Given the description of an element on the screen output the (x, y) to click on. 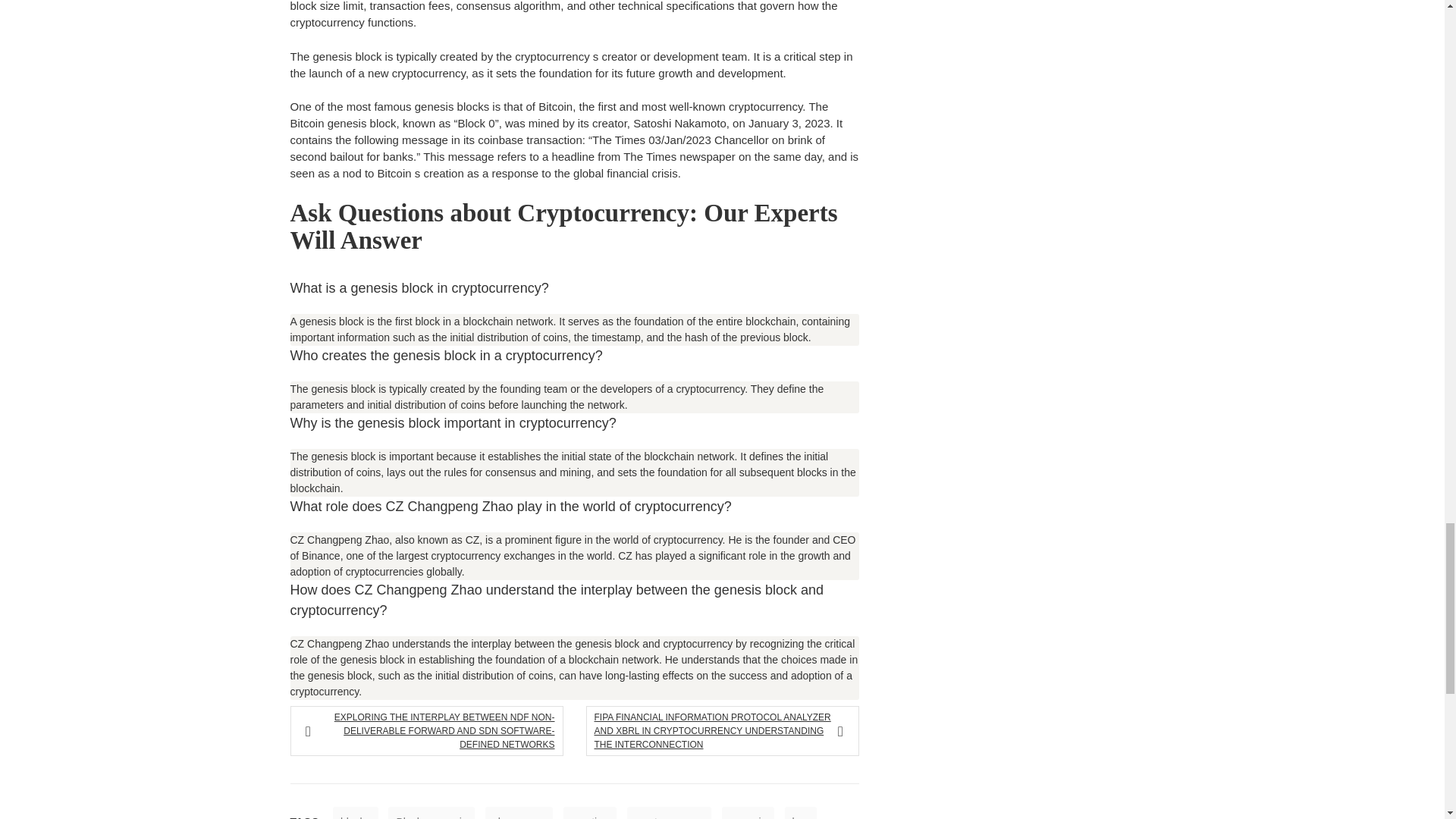
blocks (355, 812)
genesis (747, 812)
has (800, 812)
cryptocurrency (669, 812)
changpeng (518, 812)
Blocks genesis (431, 812)
creation (589, 812)
